Given the description of an element on the screen output the (x, y) to click on. 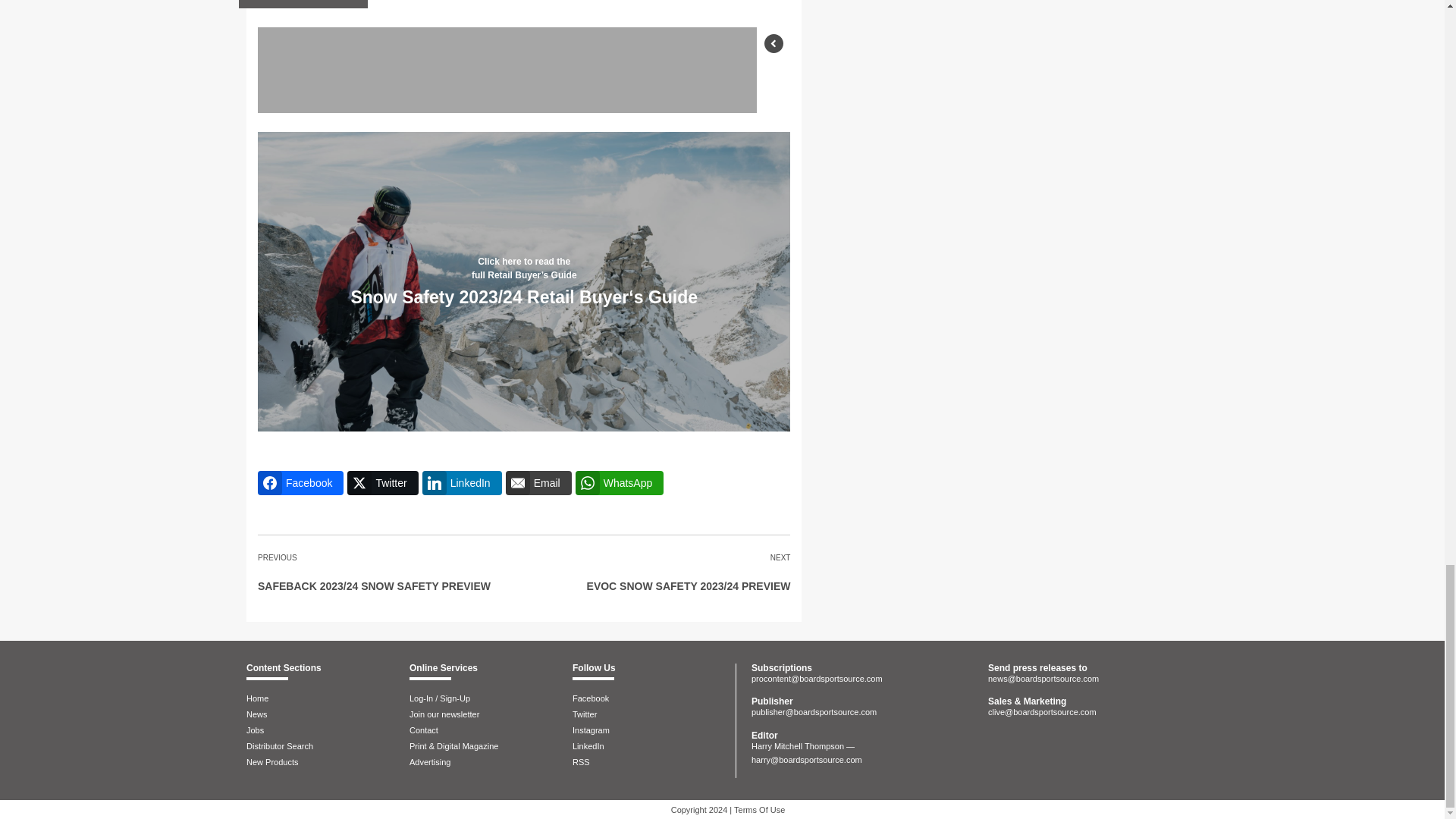
Facebook (300, 482)
Share on WhatsApp (619, 482)
Twitter (382, 482)
Share on Twitter (382, 482)
Share on LinkedIn (462, 482)
Share on Email (538, 482)
Boardsport SOURCE (1054, 750)
Share on Facebook (300, 482)
